Given the description of an element on the screen output the (x, y) to click on. 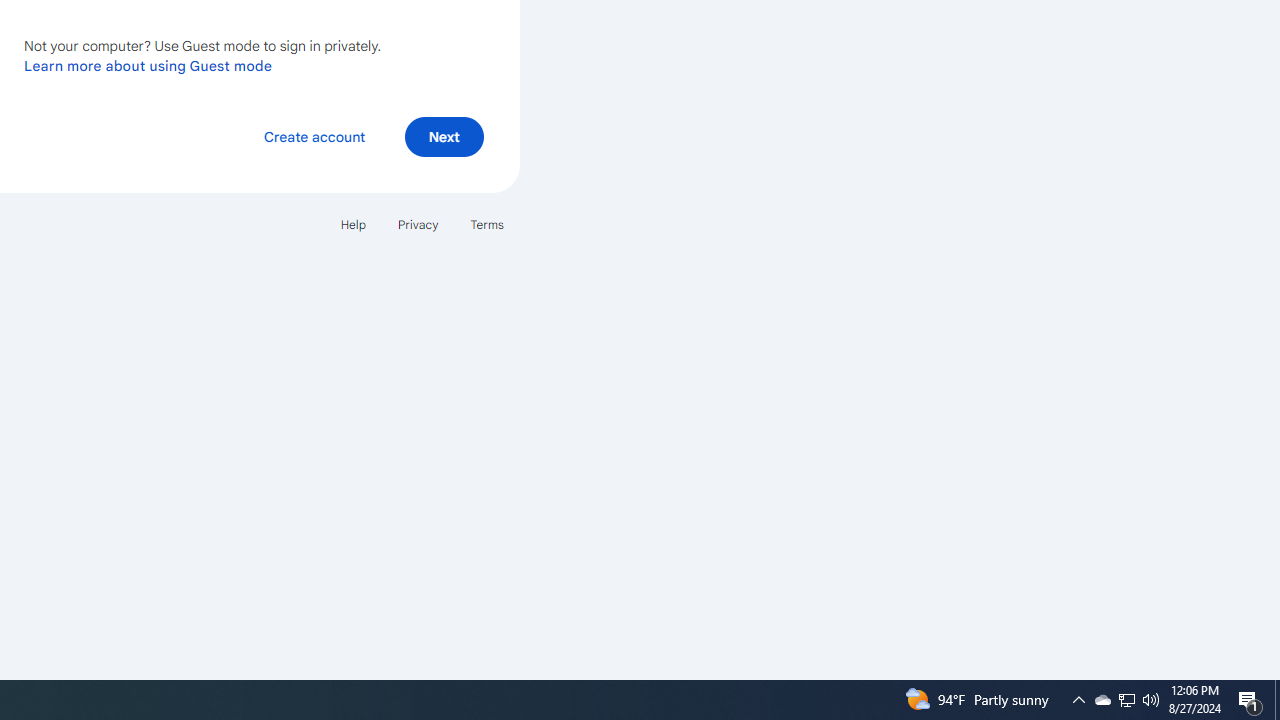
Next (443, 135)
Privacy (417, 224)
Terms (486, 224)
Help (352, 224)
Learn more about using Guest mode (148, 65)
Create account (314, 135)
